Given the description of an element on the screen output the (x, y) to click on. 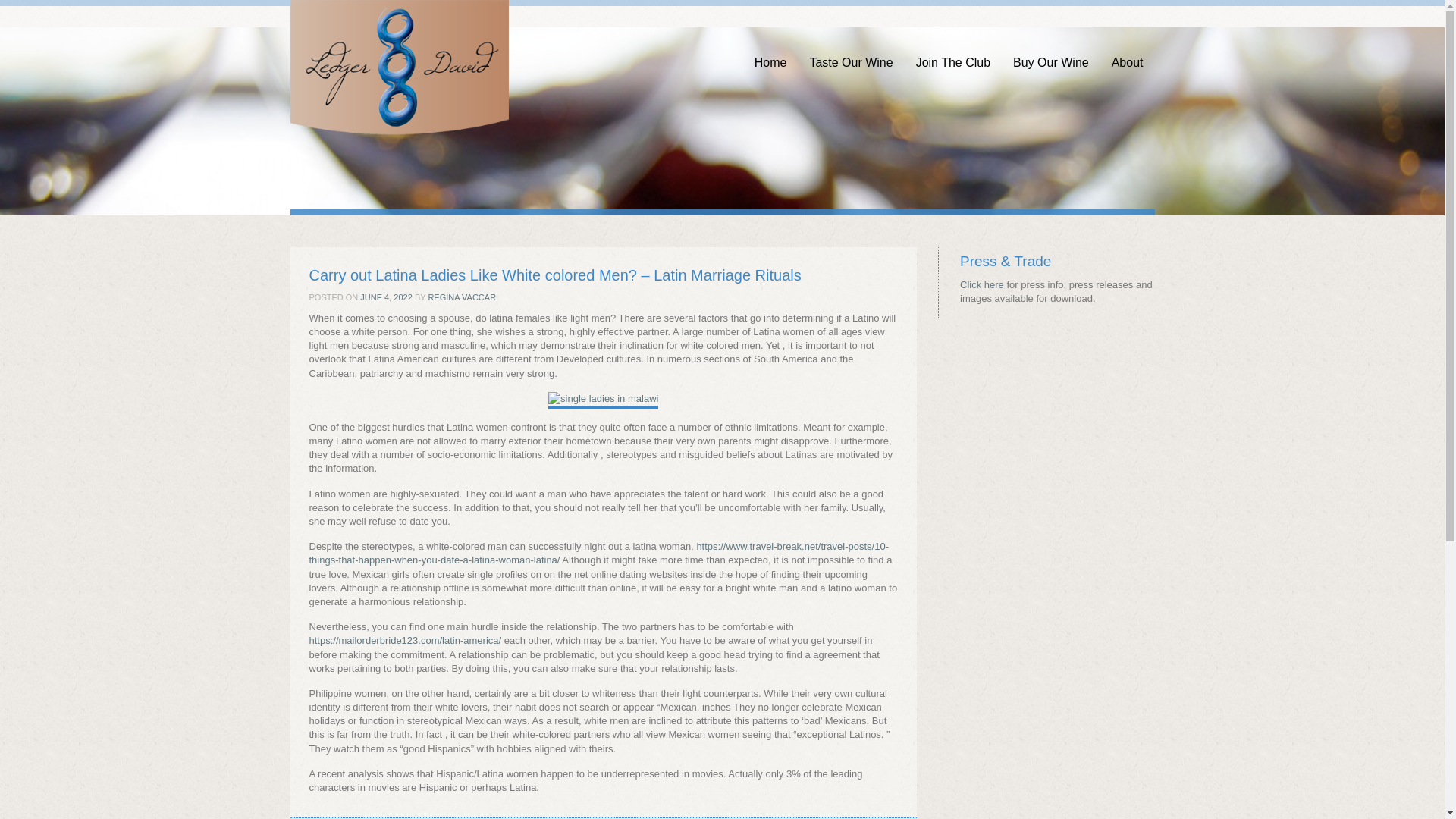
REGINA VACCARI (462, 297)
Join The Club (952, 43)
View all posts by Regina Vaccari (462, 297)
Click here (981, 284)
Taste Our Wine (850, 43)
12:00 am (385, 297)
Buy Our Wine (1050, 43)
JUNE 4, 2022 (385, 297)
